Given the description of an element on the screen output the (x, y) to click on. 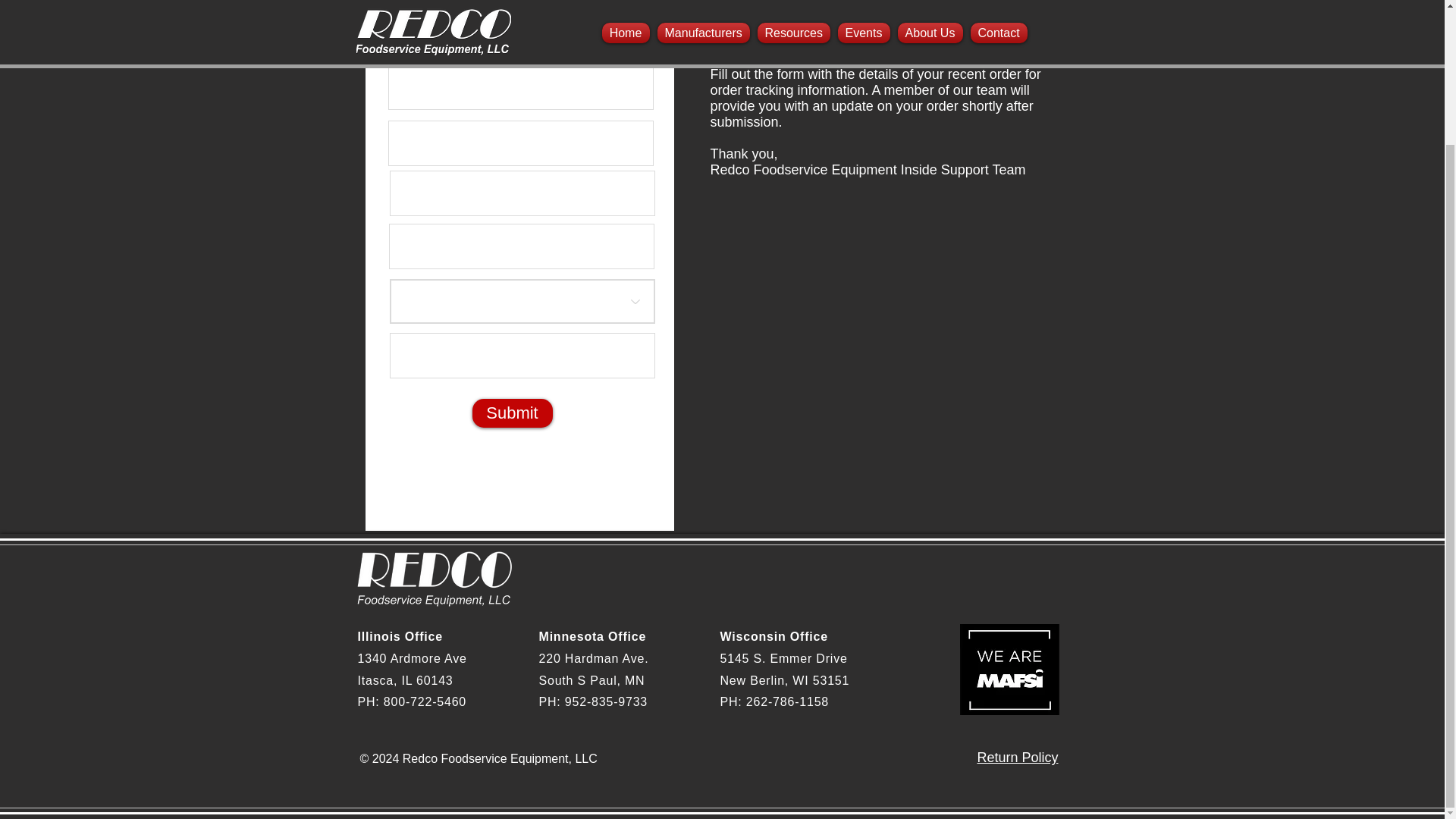
Return Policy (1017, 757)
Submit (511, 412)
